Given the description of an element on the screen output the (x, y) to click on. 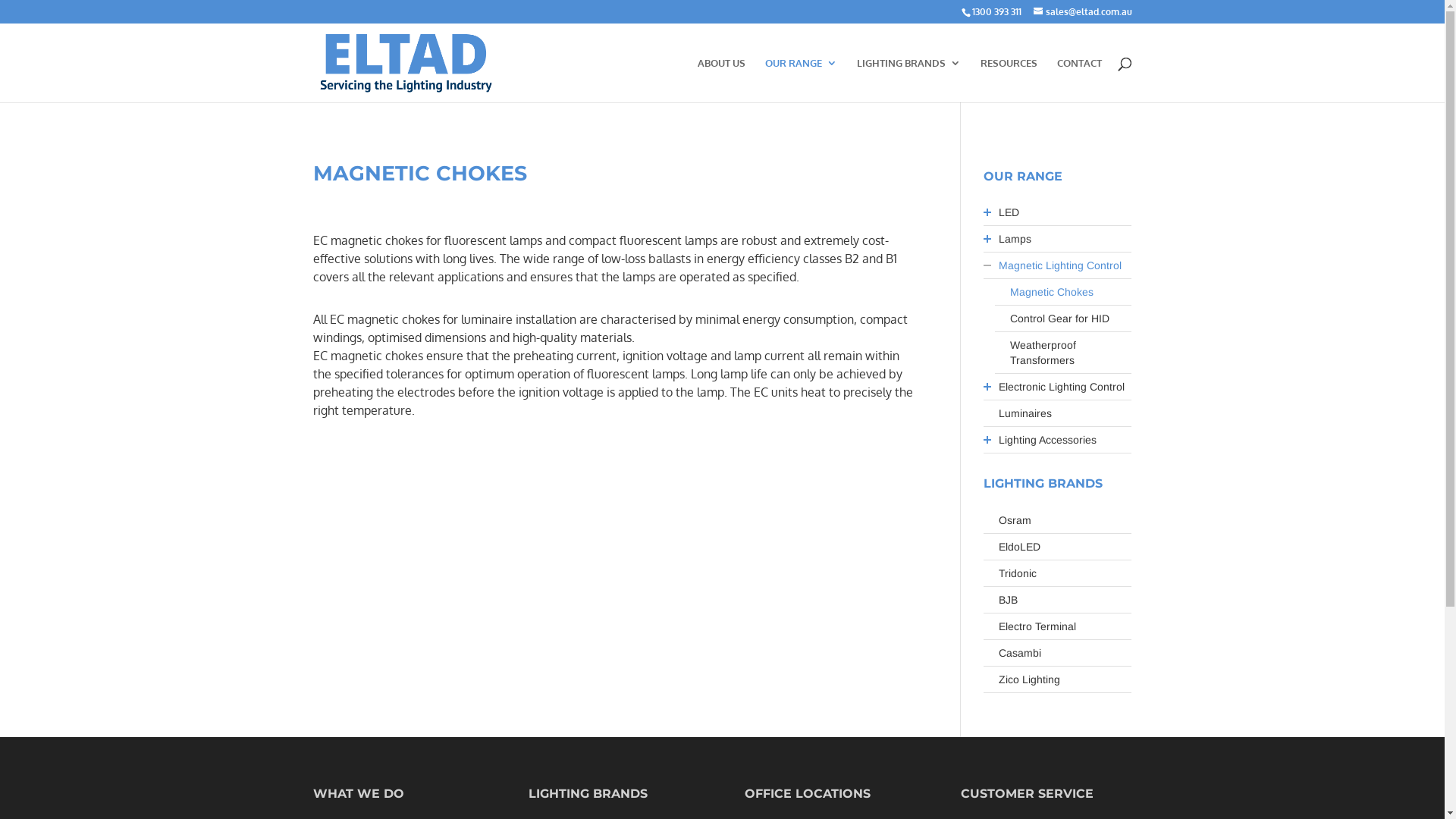
Tridonic Element type: text (1064, 572)
Magnetic Lighting Control Element type: text (1064, 265)
Magnetic Chokes Element type: text (1070, 291)
CONTACT Element type: text (1079, 79)
Lighting Accessories Element type: text (1064, 439)
Lamps Element type: text (1064, 238)
Casambi Element type: text (1064, 652)
BJB Element type: text (1064, 599)
OUR RANGE Element type: text (800, 79)
Osram Element type: text (1064, 519)
ABOUT US Element type: text (721, 79)
RESOURCES Element type: text (1007, 79)
EldoLED Element type: text (1064, 546)
Control Gear for HID Element type: text (1070, 318)
sales@eltad.com.au Element type: text (1081, 11)
Zico Lighting Element type: text (1064, 679)
Weatherproof Transformers Element type: text (1070, 352)
LIGHTING BRANDS Element type: text (908, 79)
Luminaires Element type: text (1064, 412)
Electronic Lighting Control Element type: text (1064, 386)
LED Element type: text (1064, 211)
Electro Terminal Element type: text (1064, 626)
